Given the description of an element on the screen output the (x, y) to click on. 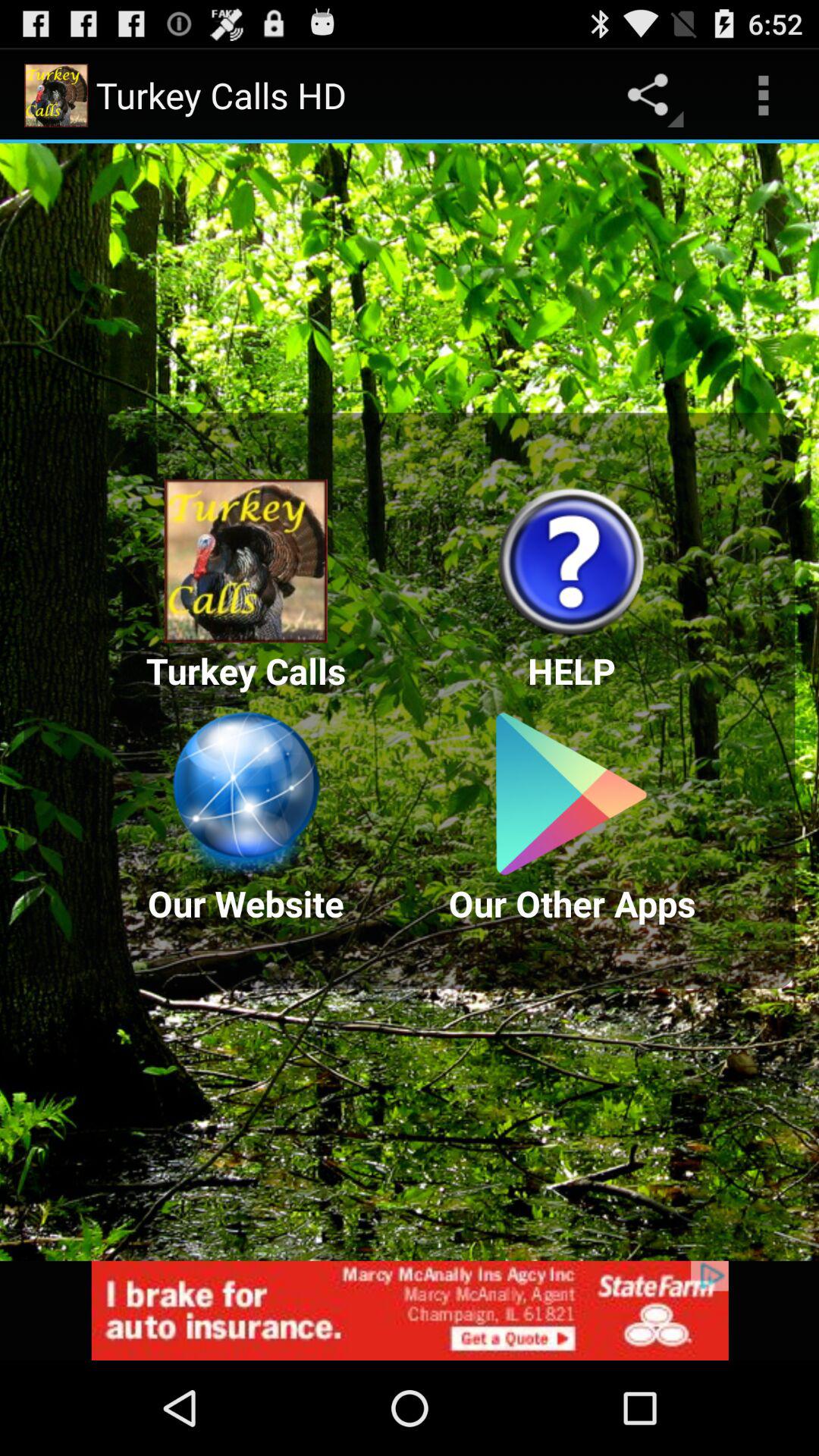
advertisement banner (409, 1310)
